Given the description of an element on the screen output the (x, y) to click on. 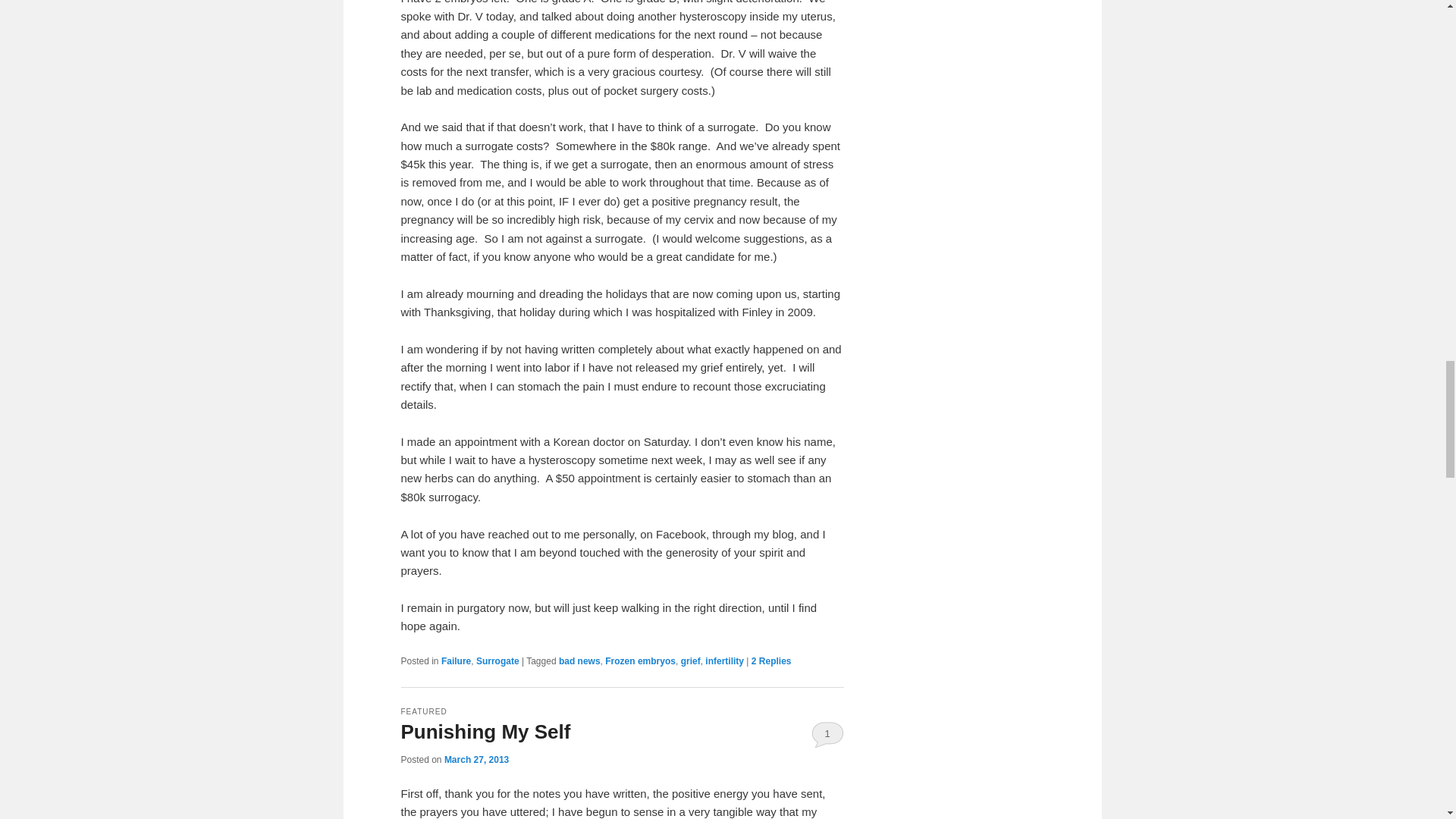
Frozen embryos (640, 661)
2 Replies (771, 661)
Comment on Punishing My Self (827, 733)
View all posts in Surrogate (497, 661)
March 27, 2013 (476, 759)
View all posts in Failure (455, 661)
Permalink to Punishing My Self (485, 731)
Comment on Purgatory (771, 661)
grief (690, 661)
bad news (579, 661)
Surrogate (497, 661)
Punishing My Self (485, 731)
8:35 pm (476, 759)
1 (827, 733)
infertility (724, 661)
